Given the description of an element on the screen output the (x, y) to click on. 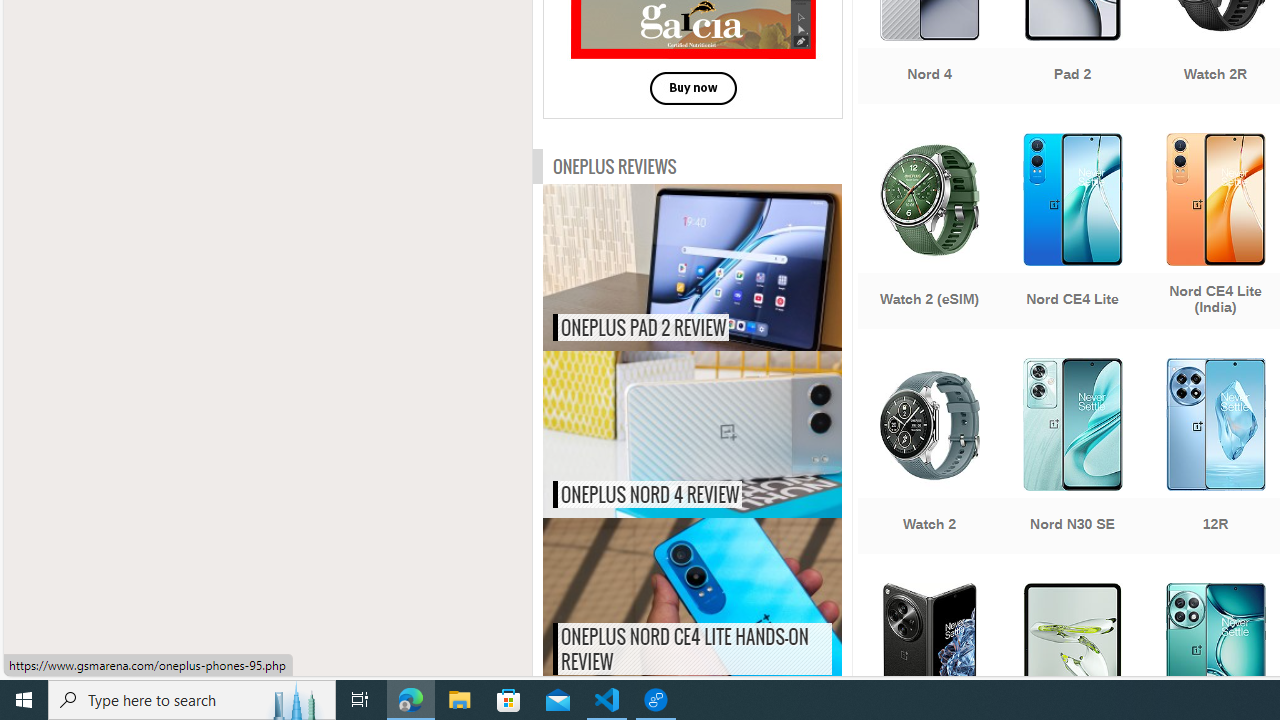
OnePlus Nord CE4 Lite hands-on review (734, 600)
Nord N30 SE (1072, 458)
OnePlus Pad 2 review ONEPLUS PAD 2 REVIEW (692, 267)
OnePlus Nord 4 review (734, 434)
Watch 2 (eSIM) (928, 233)
OnePlus Nord 4 review ONEPLUS NORD 4 REVIEW (692, 434)
Watch 2 (928, 458)
OnePlus Pad 2 review (734, 267)
Nord CE4 Lite (1072, 233)
